Given the description of an element on the screen output the (x, y) to click on. 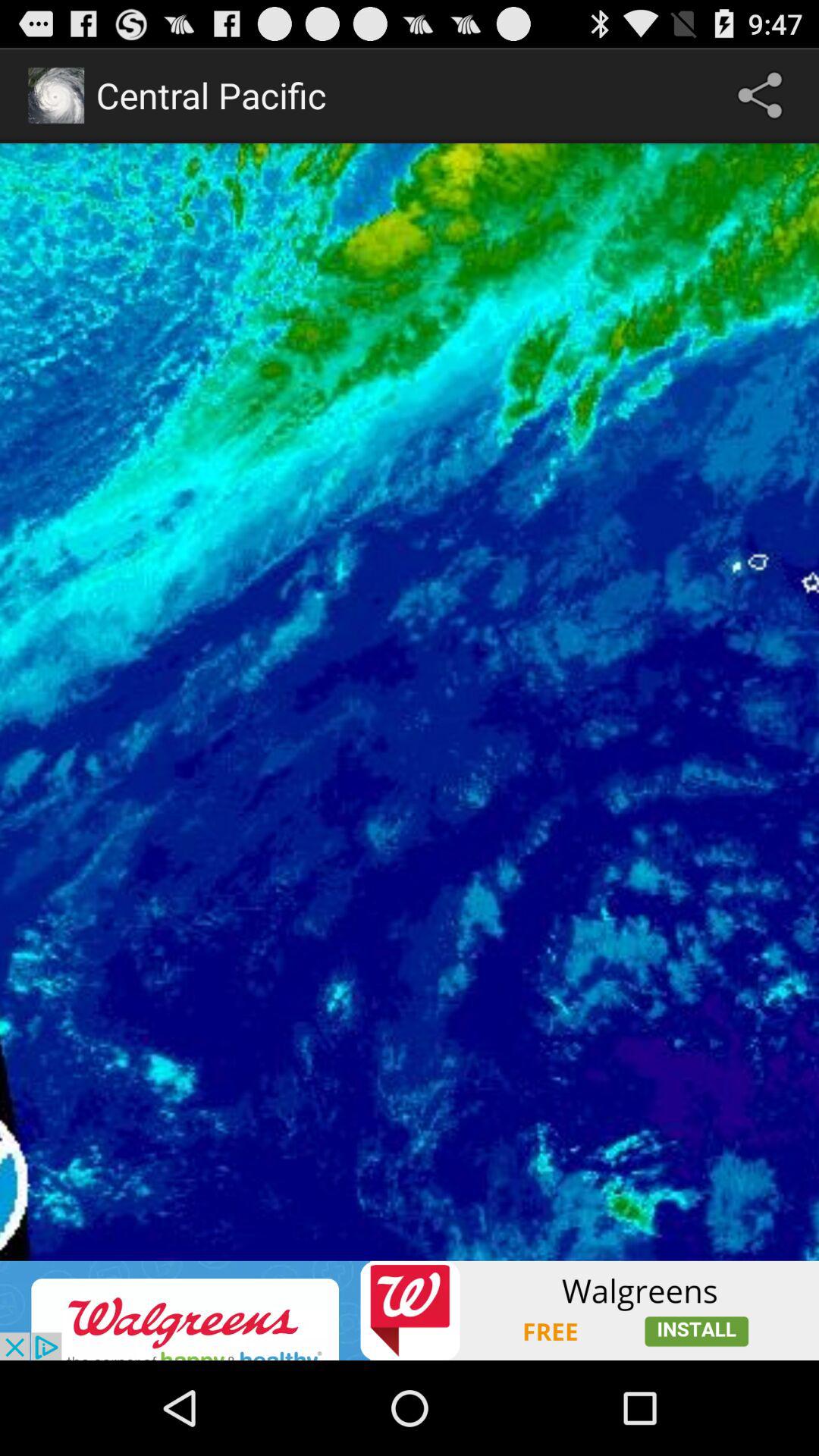
install the app (409, 1310)
